Given the description of an element on the screen output the (x, y) to click on. 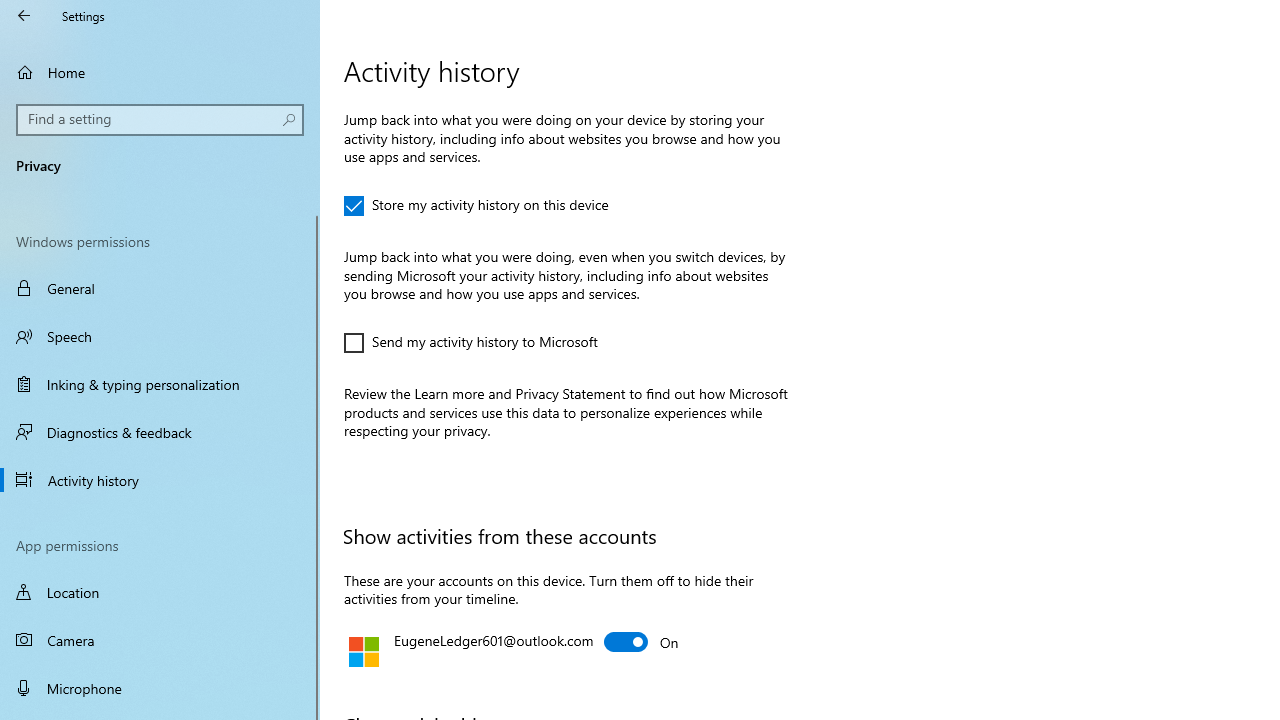
Diagnostics & feedback (160, 431)
EugeneLedger601@outlook.com (641, 641)
Speech (160, 335)
Inking & typing personalization (160, 384)
Camera (160, 639)
Location (160, 592)
General (160, 287)
Microphone (160, 687)
Store my activity history on this device (476, 205)
Activity history (160, 479)
Send my activity history to Microsoft (470, 342)
